Given the description of an element on the screen output the (x, y) to click on. 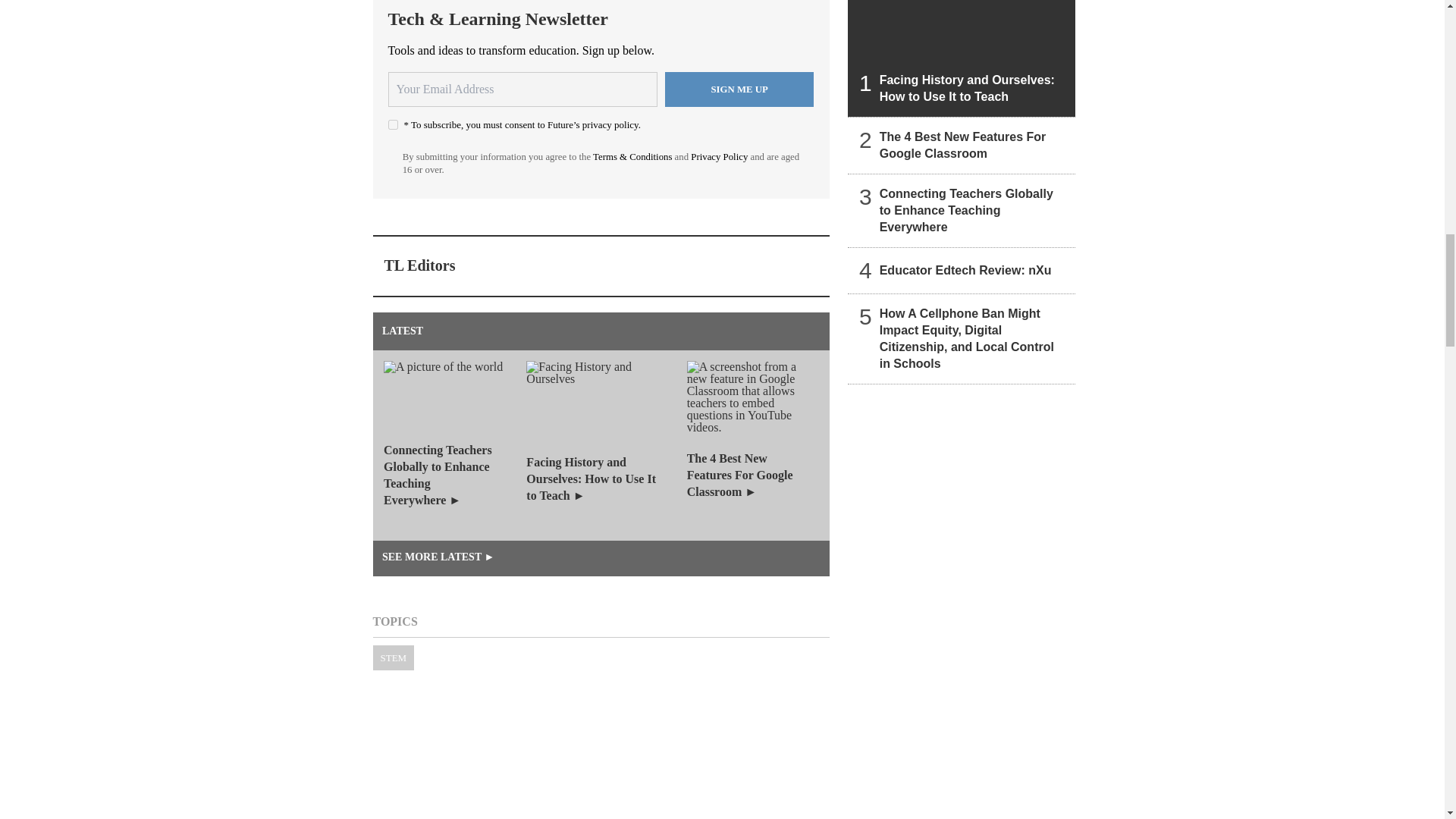
Sign me up (739, 89)
Privacy Policy (719, 156)
Sign me up (739, 89)
TL Editors (419, 265)
Facing History and Ourselves: How to Use It to Teach (961, 58)
on (392, 124)
